Given the description of an element on the screen output the (x, y) to click on. 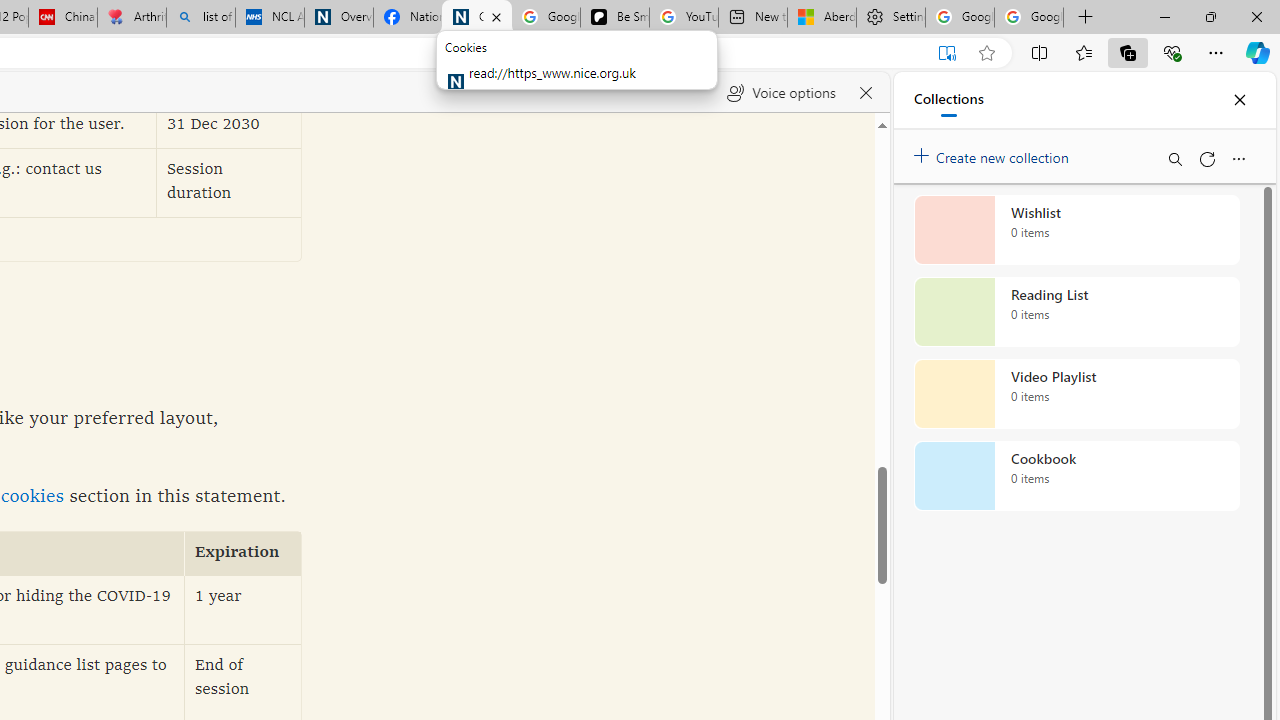
Wishlist collection, 0 items (1076, 229)
Voice options (780, 92)
Expiration (243, 554)
Arthritis: Ask Health Professionals (132, 17)
Cookies (476, 17)
Aberdeen, Hong Kong SAR hourly forecast | Microsoft Weather (822, 17)
list of asthma inhalers uk - Search (200, 17)
